Given the description of an element on the screen output the (x, y) to click on. 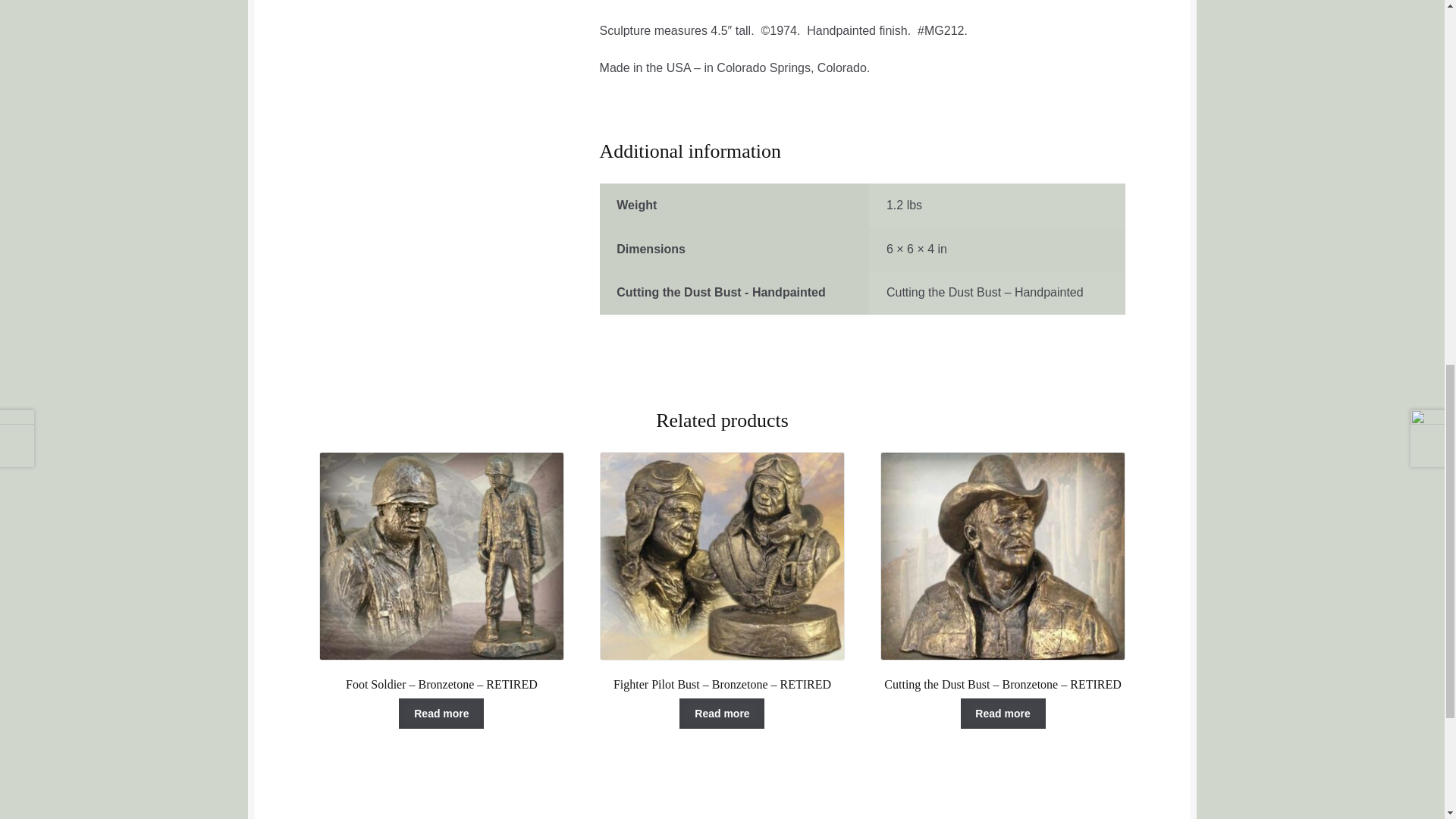
Read more (440, 713)
Read more (1002, 713)
Read more (721, 713)
